Given the description of an element on the screen output the (x, y) to click on. 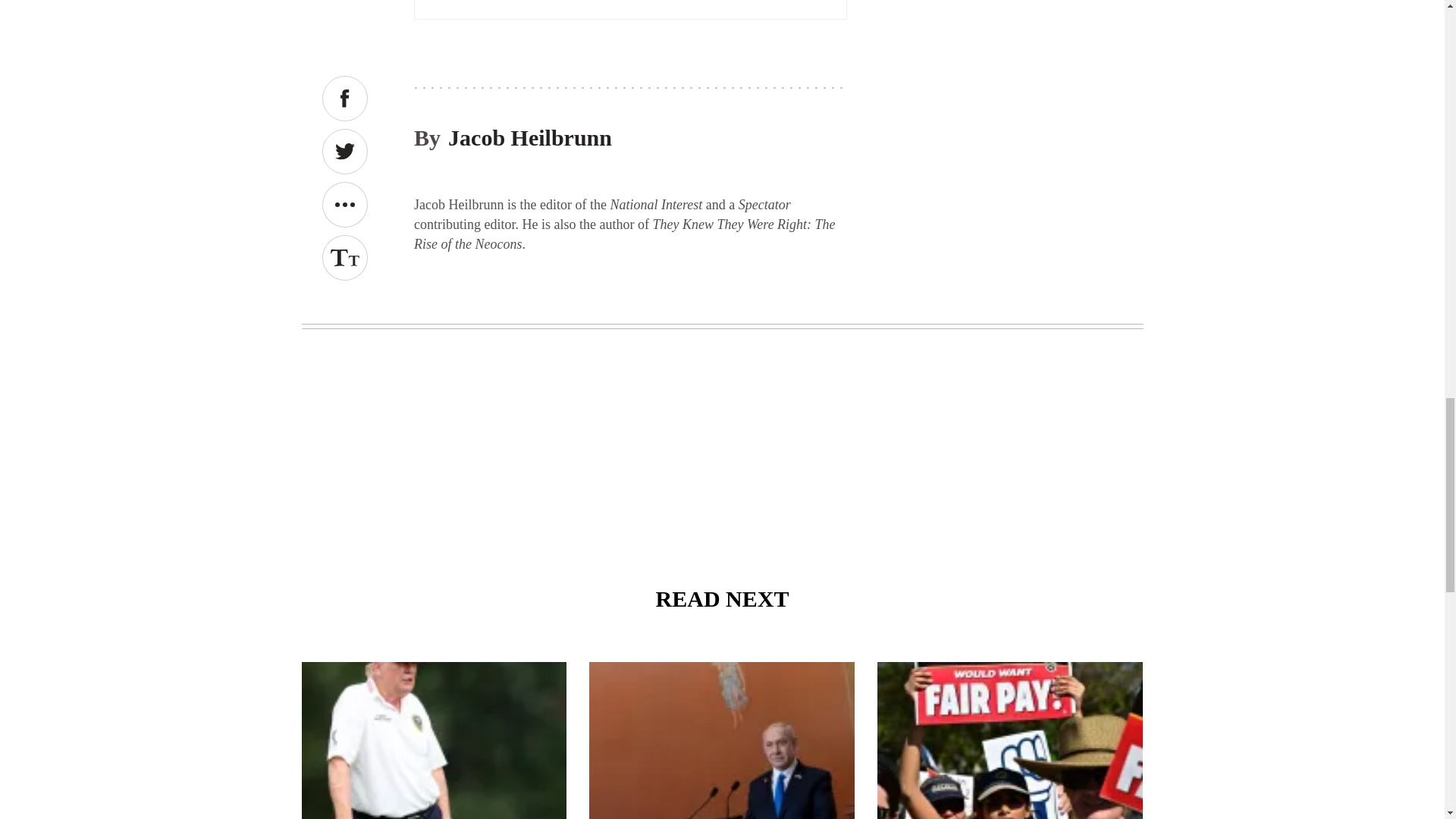
offer-0-vOrXO (630, 25)
Jacob Heilbrunn (529, 137)
